Given the description of an element on the screen output the (x, y) to click on. 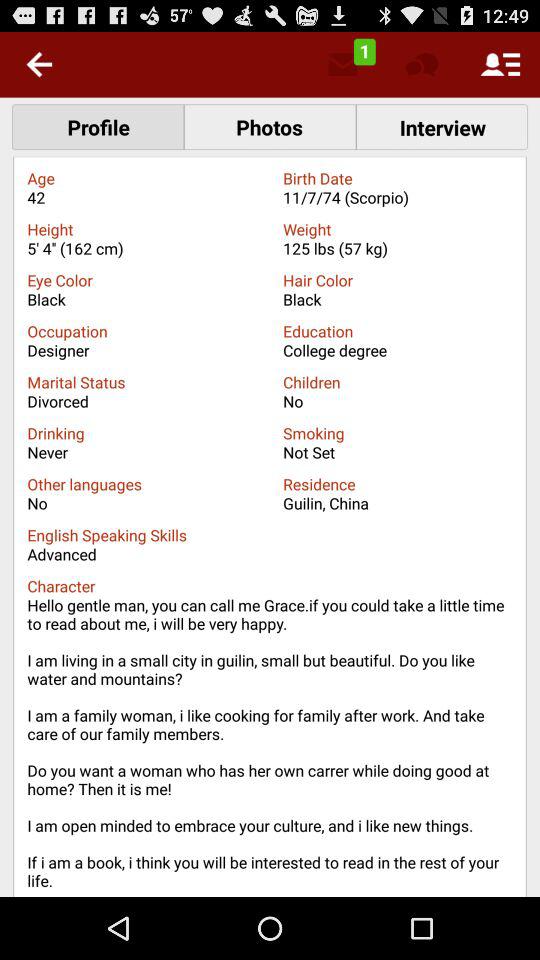
click on the text photos (269, 126)
